Given the description of an element on the screen output the (x, y) to click on. 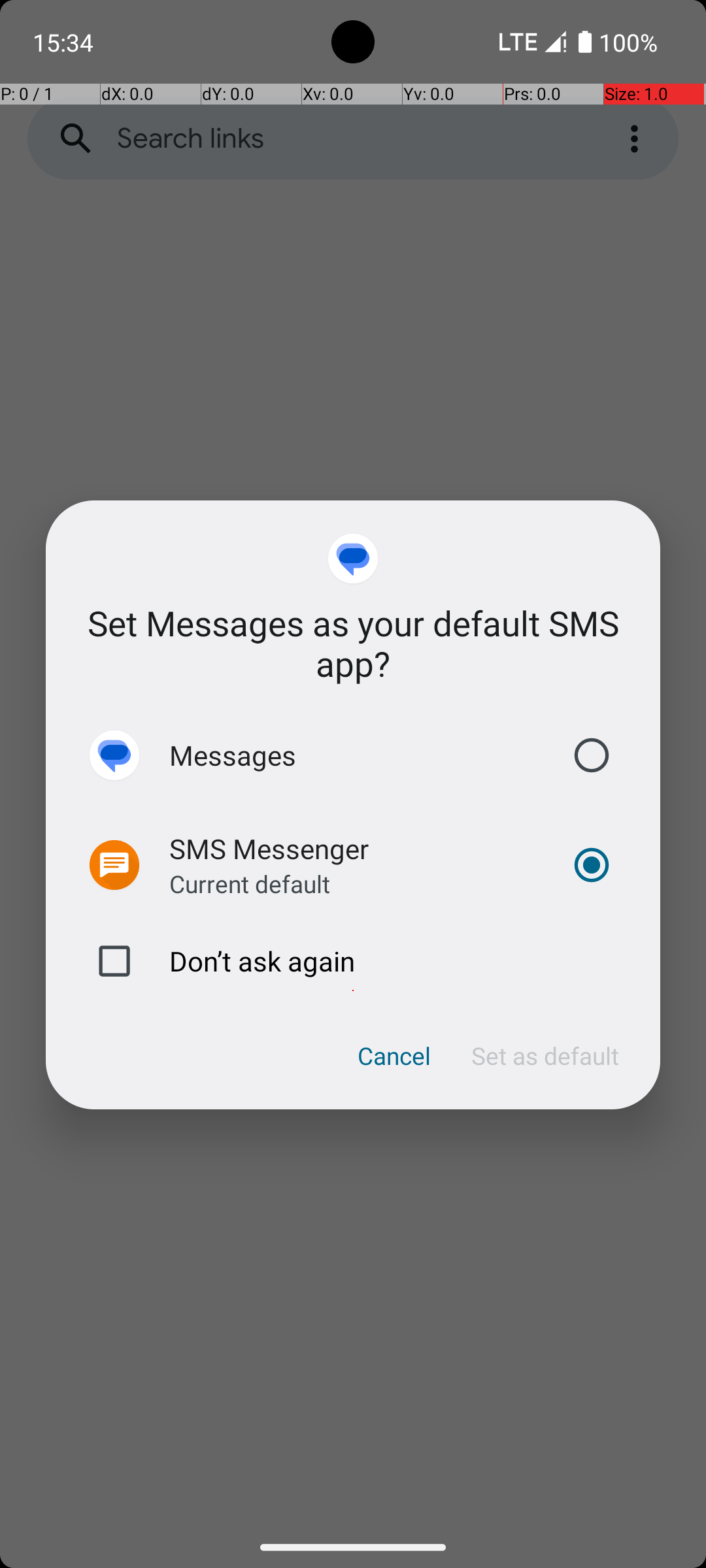
Set Messages as your default SMS app? Element type: android.widget.TextView (352, 642)
Don’t ask again Element type: android.widget.CheckBox (352, 960)
Set as default Element type: android.widget.Button (545, 1055)
Current default Element type: android.widget.TextView (249, 883)
